Given the description of an element on the screen output the (x, y) to click on. 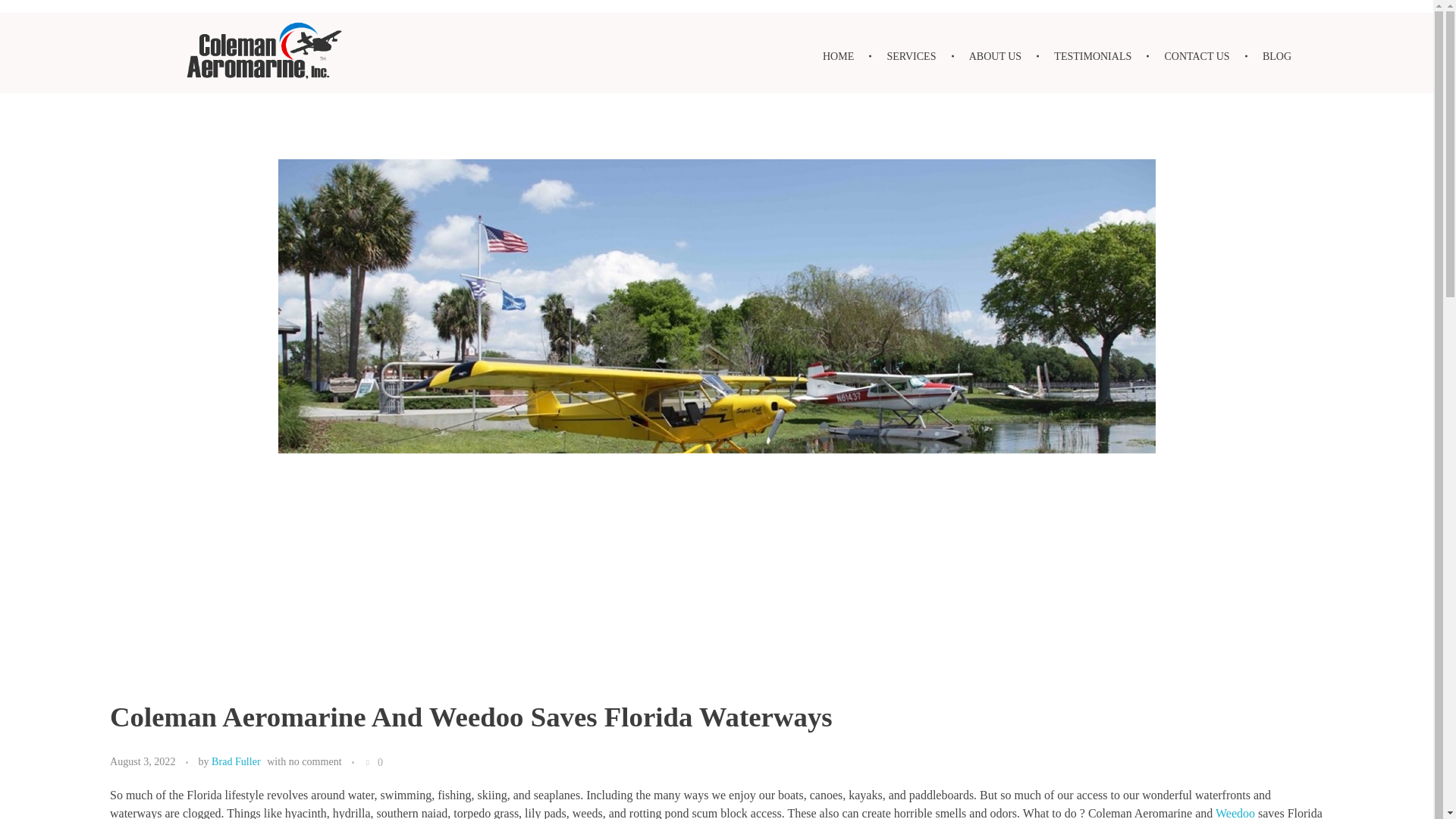
View all posts by Brad Fuller (235, 761)
HOME (847, 56)
BLOG (1269, 56)
Brad Fuller (235, 761)
CONTACT US (1198, 56)
Weedoo (1235, 812)
SERVICES (913, 56)
ABOUT US (998, 56)
TESTIMONIALS (1095, 56)
